Given the description of an element on the screen output the (x, y) to click on. 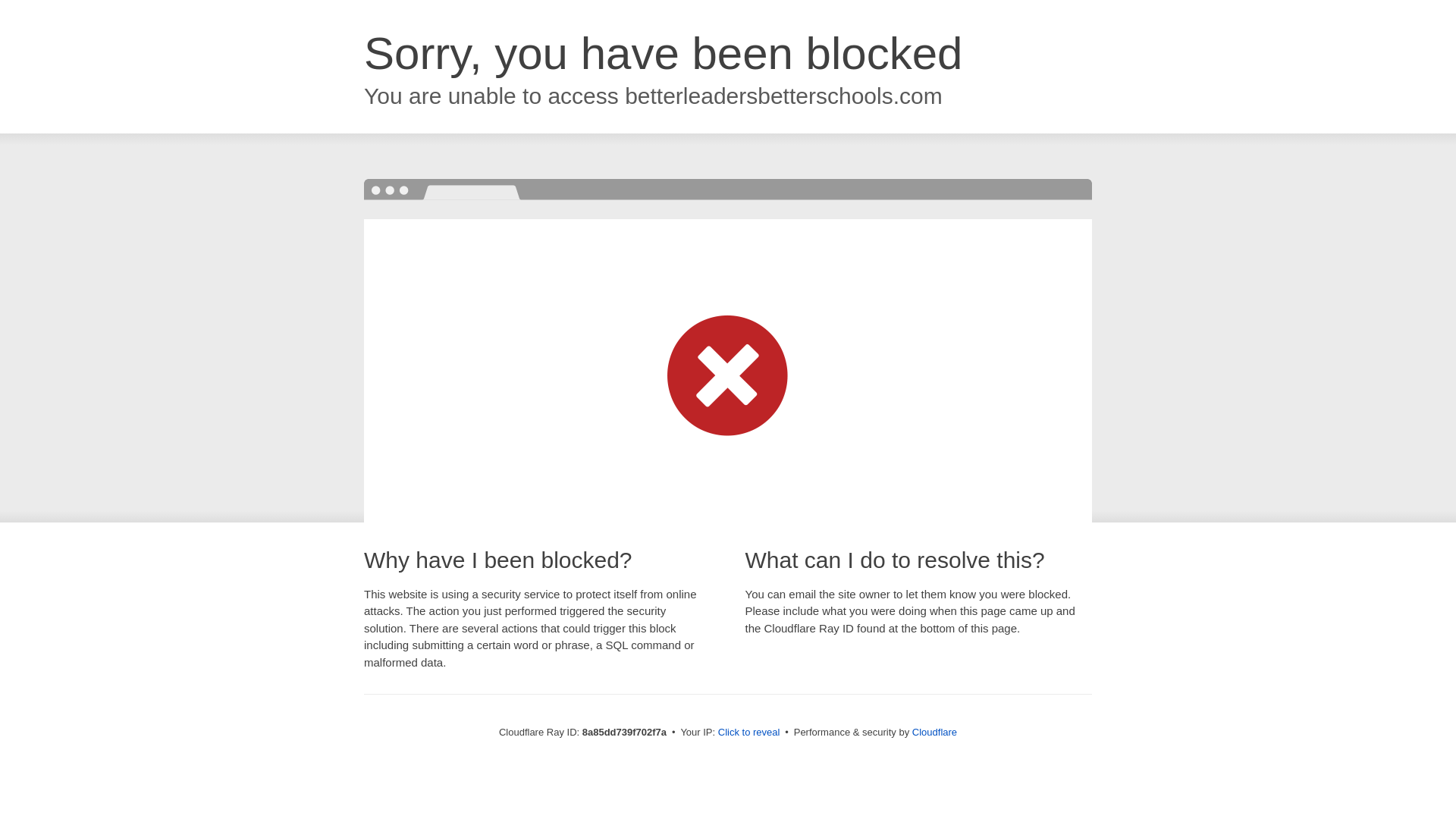
Click to reveal (748, 732)
Cloudflare (934, 731)
